Given the description of an element on the screen output the (x, y) to click on. 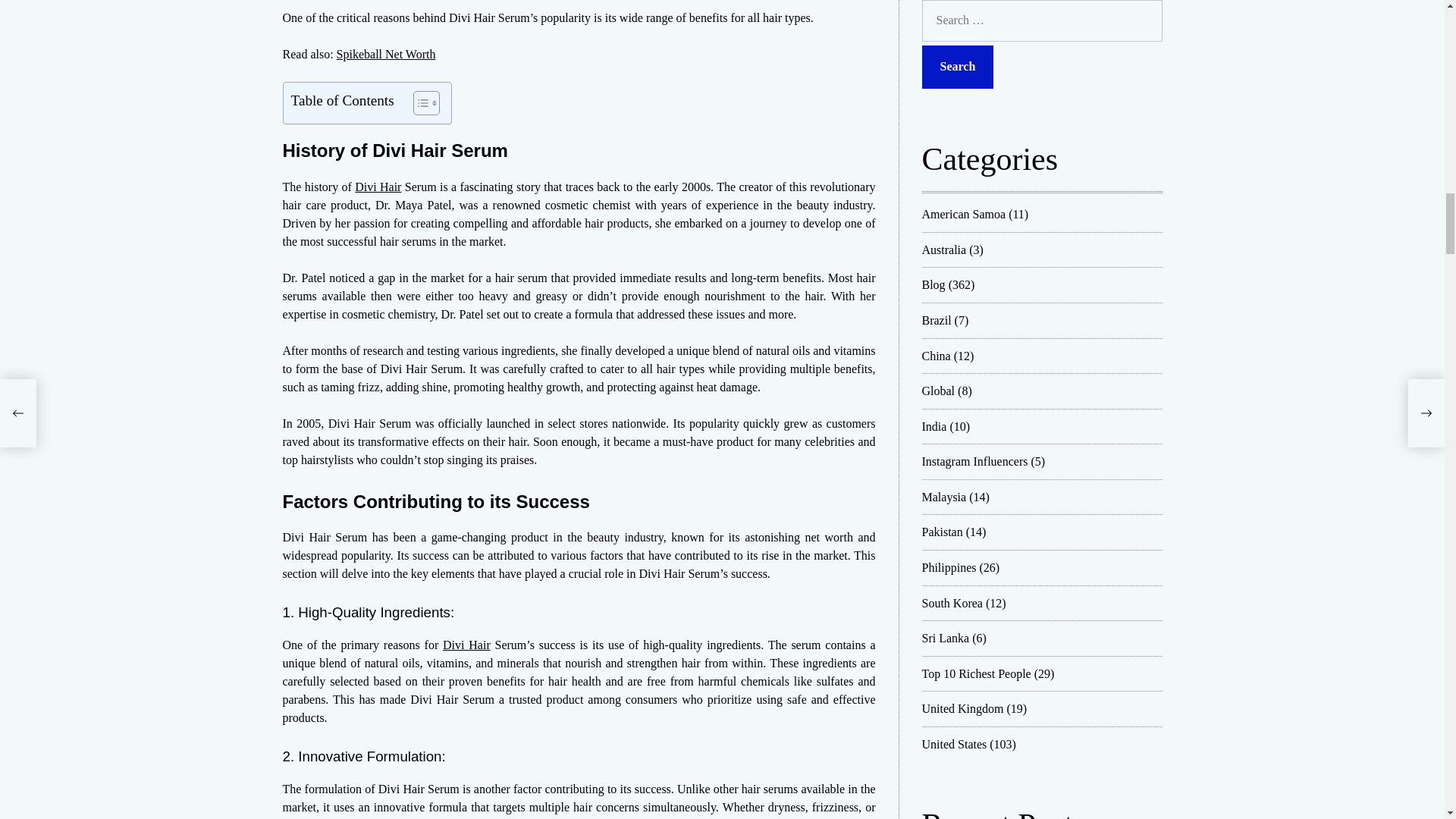
Spikeball Net Worth (385, 53)
